Given the description of an element on the screen output the (x, y) to click on. 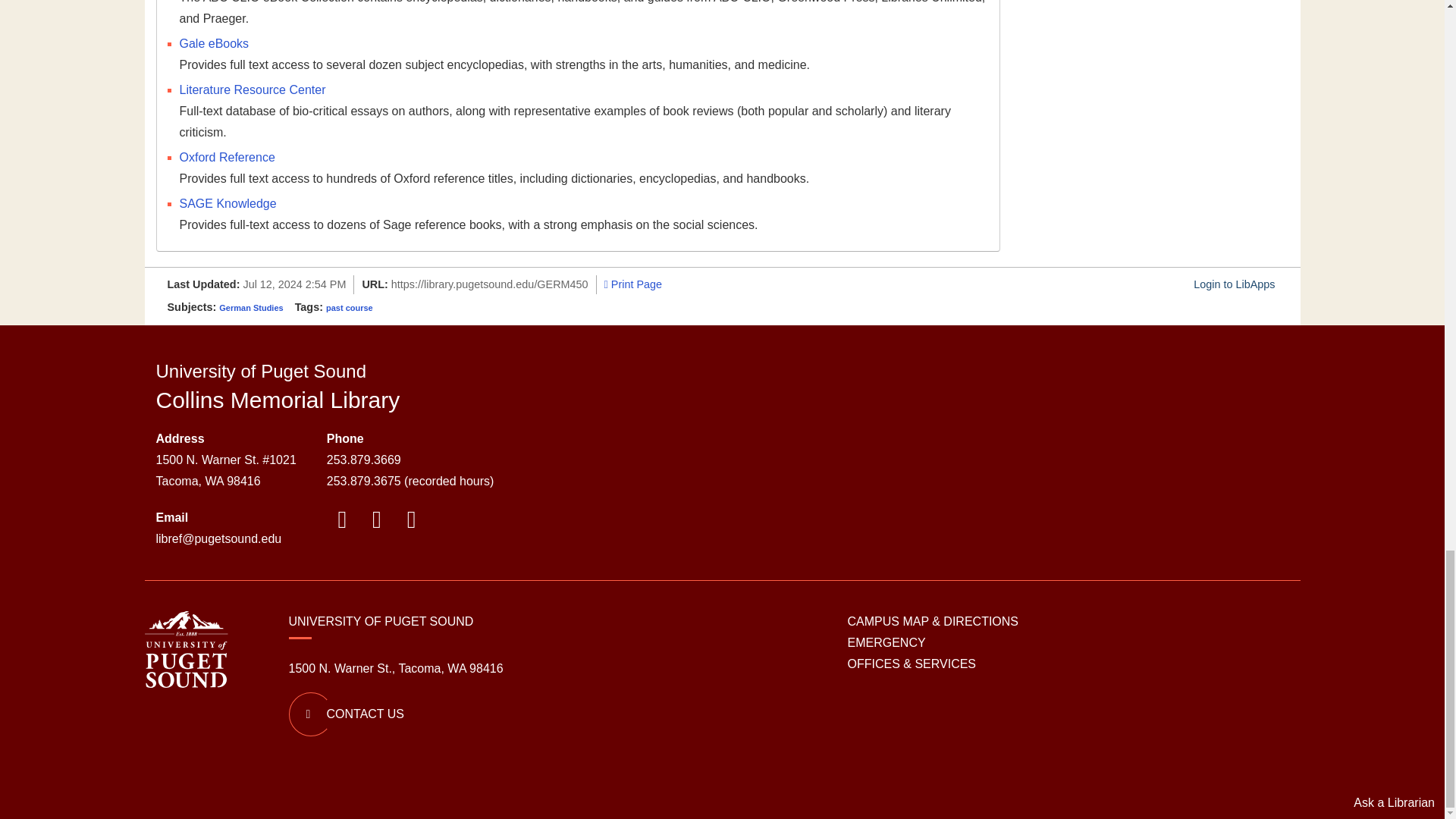
Collins Unbound Blog (376, 522)
